Given the description of an element on the screen output the (x, y) to click on. 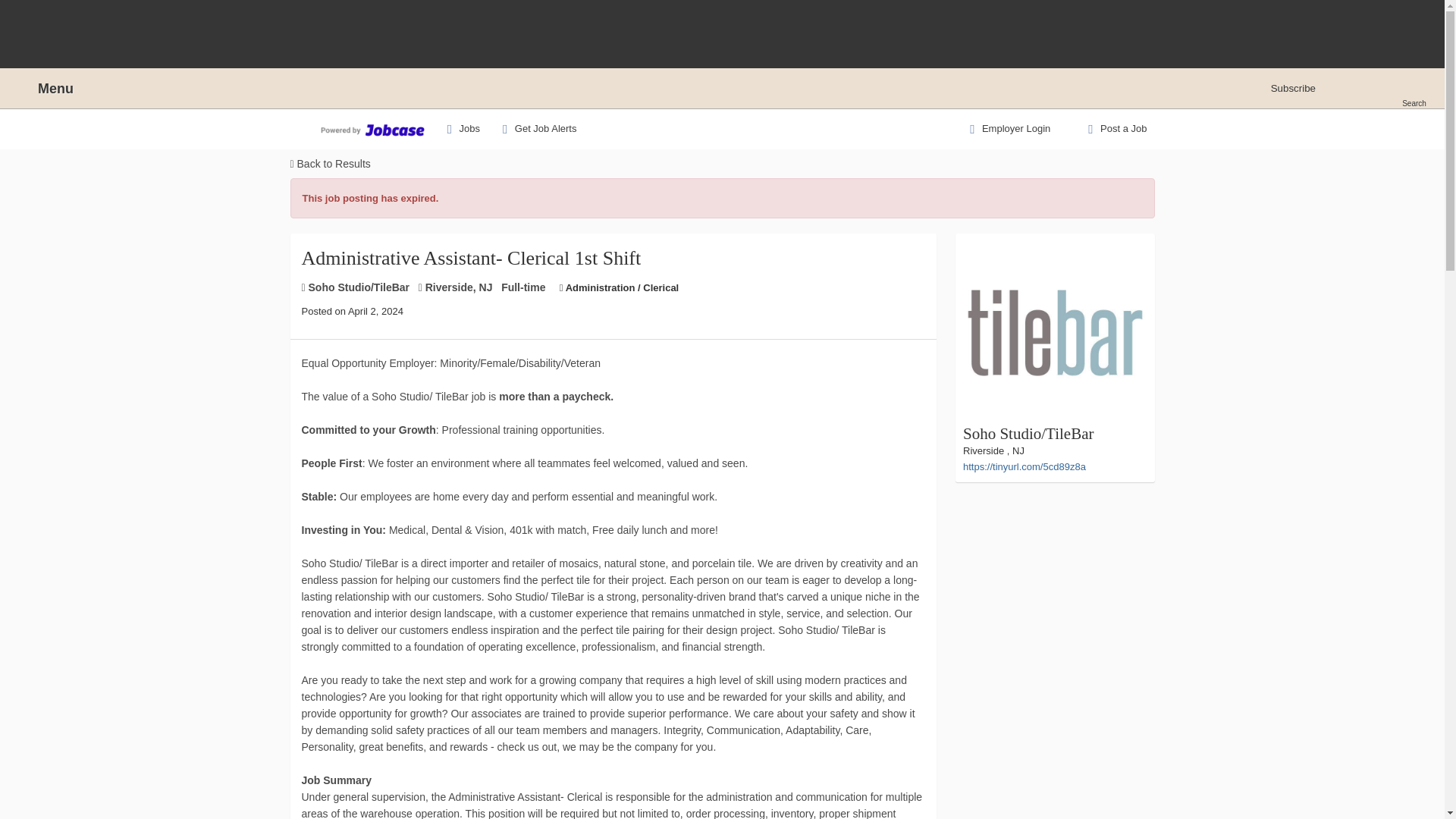
Menu (40, 89)
NJ.com (720, 87)
NJ.com (720, 87)
